Given the description of an element on the screen output the (x, y) to click on. 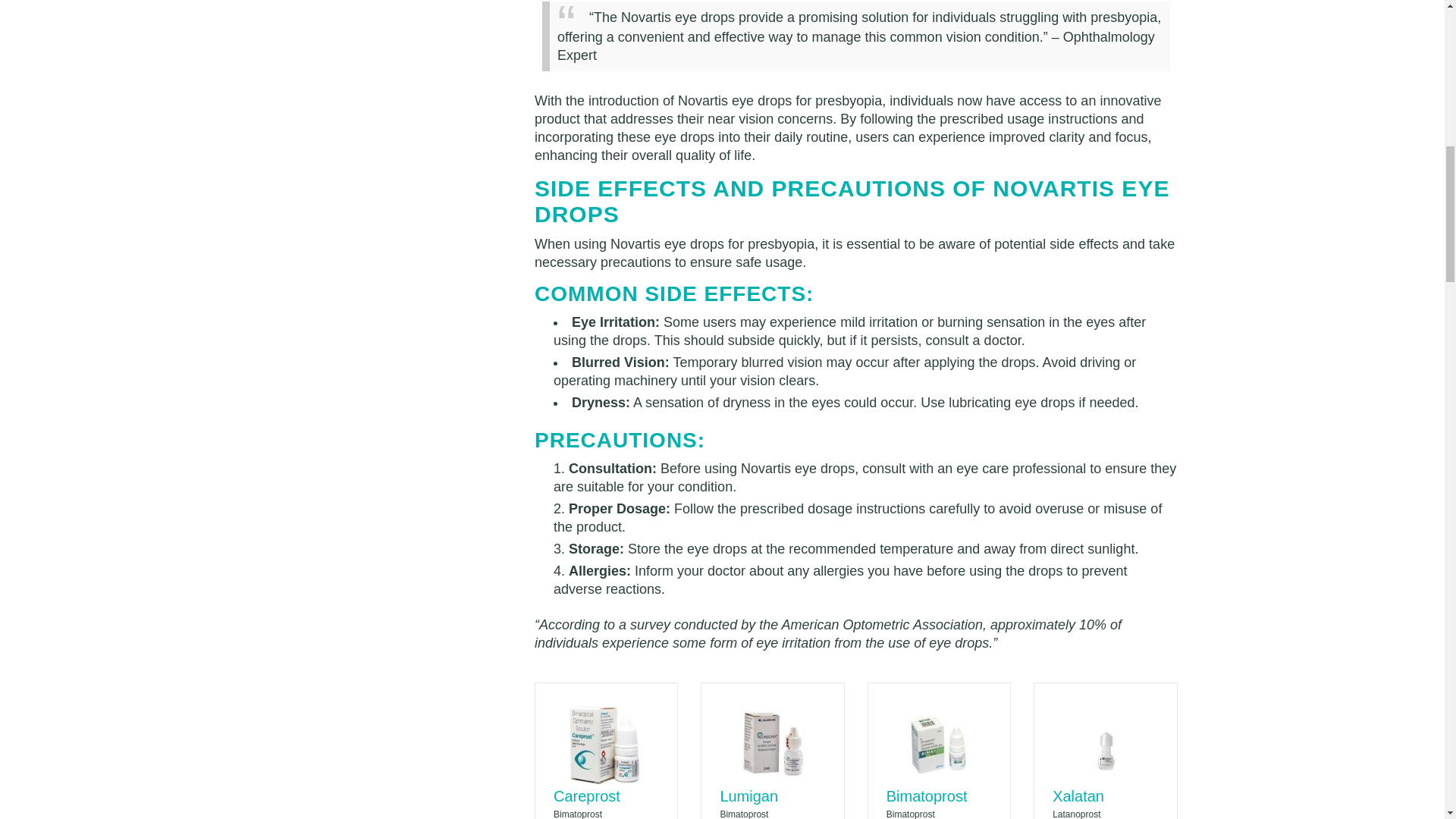
Bimatoprost (927, 795)
Xalatan (1077, 795)
Lumigan (748, 795)
Careprost (586, 795)
